Given the description of an element on the screen output the (x, y) to click on. 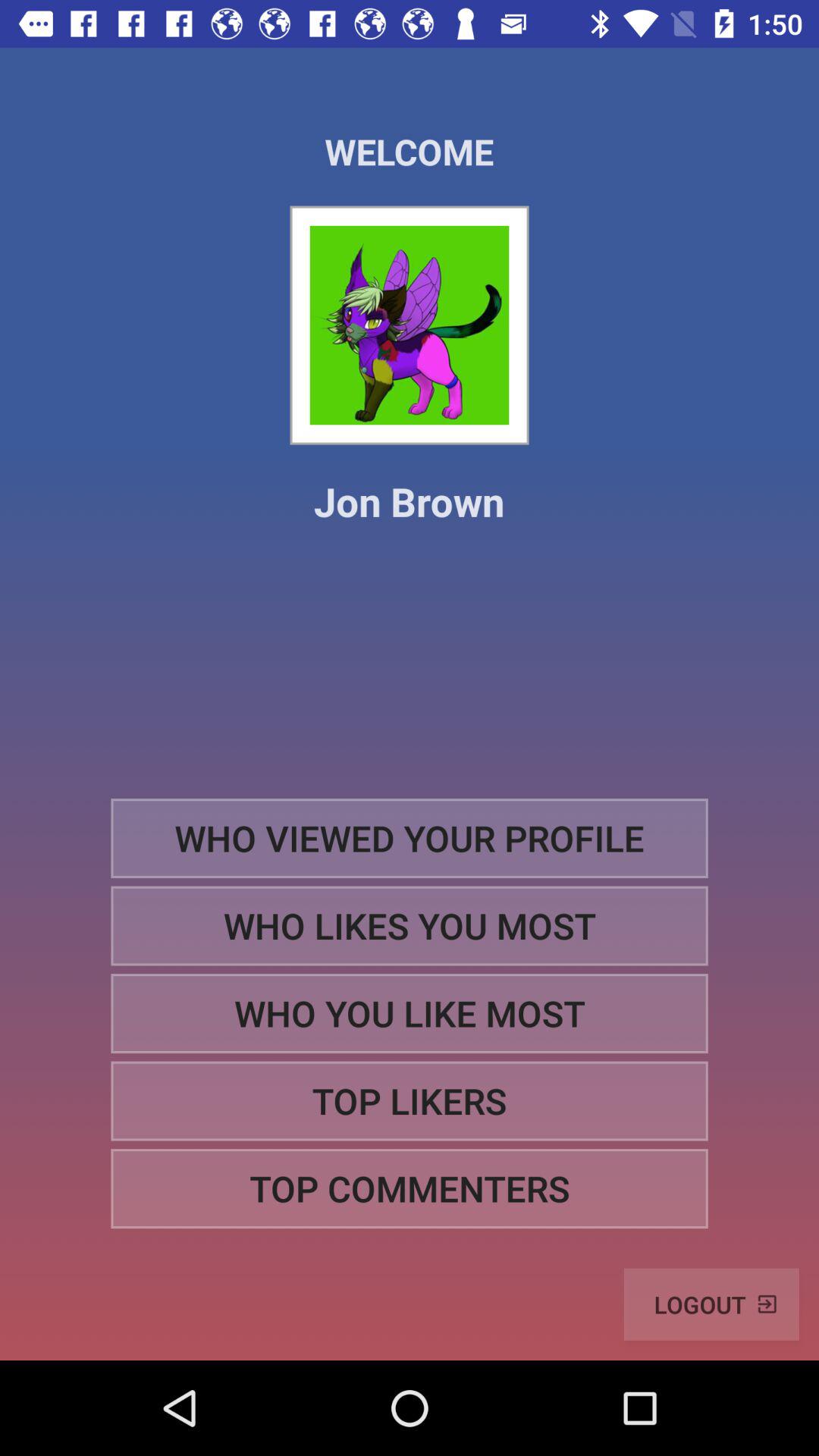
turn off item at the bottom right corner (711, 1304)
